Given the description of an element on the screen output the (x, y) to click on. 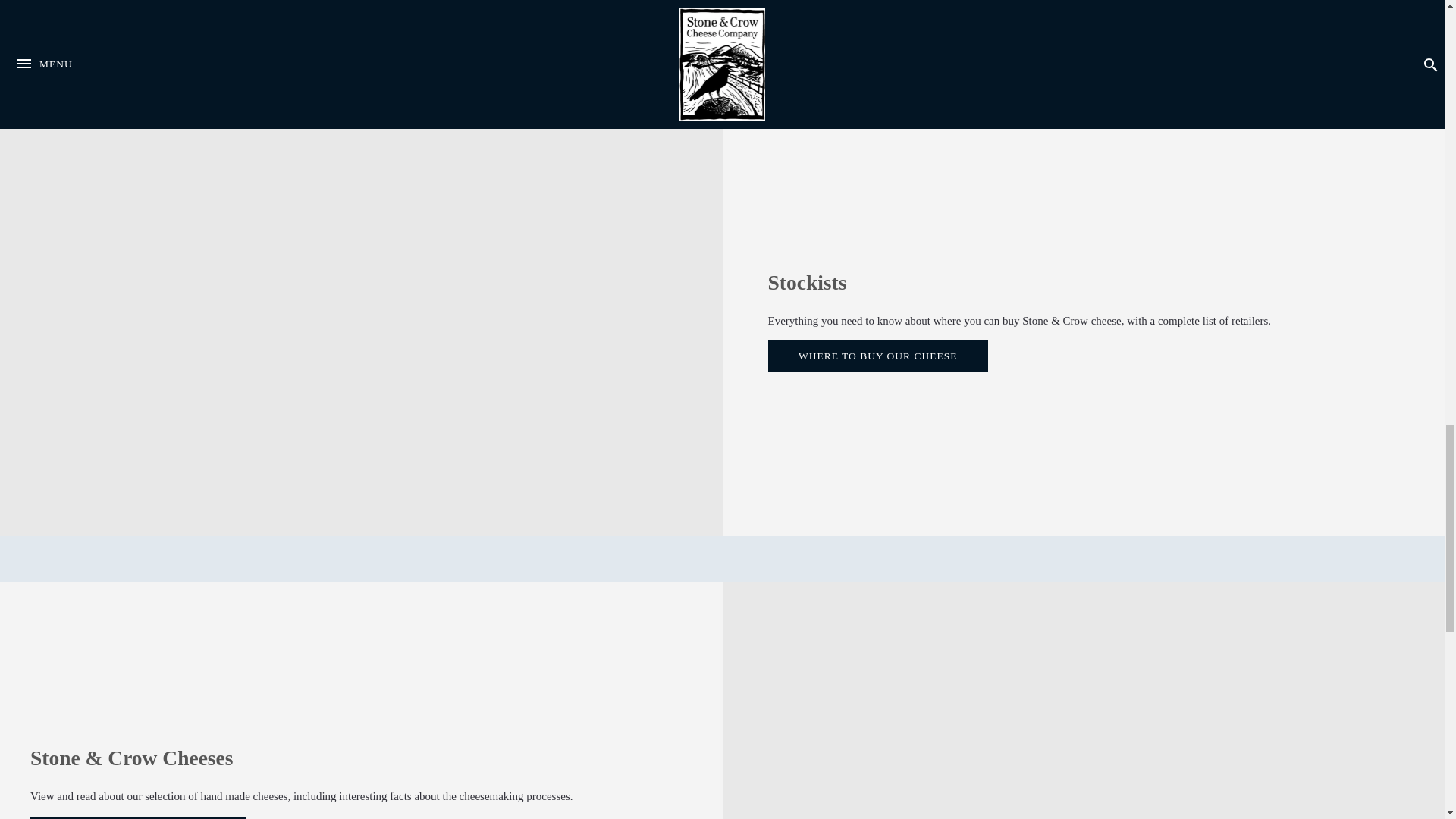
WHERE TO BUY OUR CHEESE (877, 355)
CHECK OUT OUR PRODUCTS (138, 817)
